Given the description of an element on the screen output the (x, y) to click on. 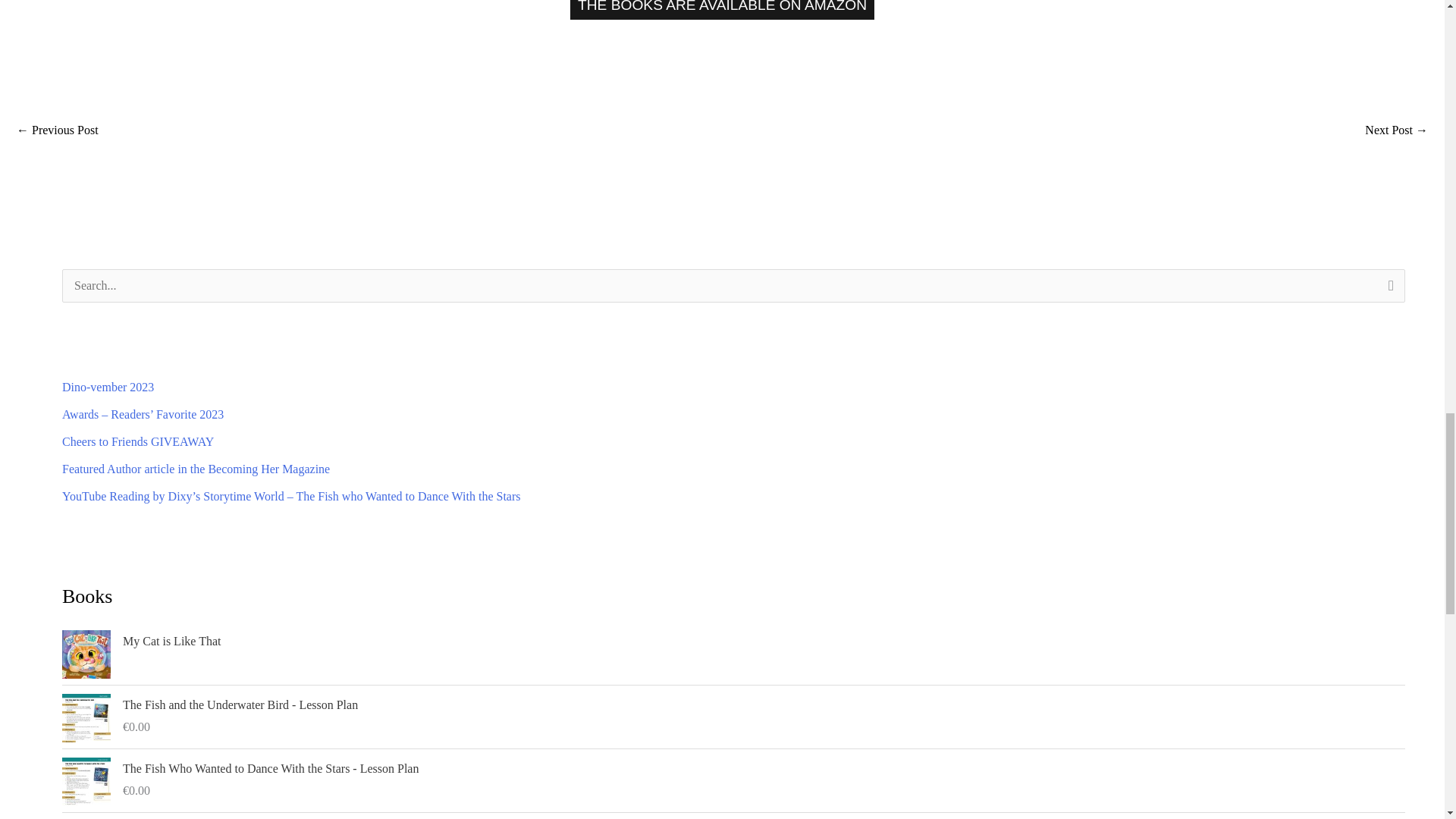
THE BOOKS ARE AVAILABLE ON AMAZON (722, 9)
FREE Character Building Lesson Plan for 8 weeks (57, 131)
